Given the description of an element on the screen output the (x, y) to click on. 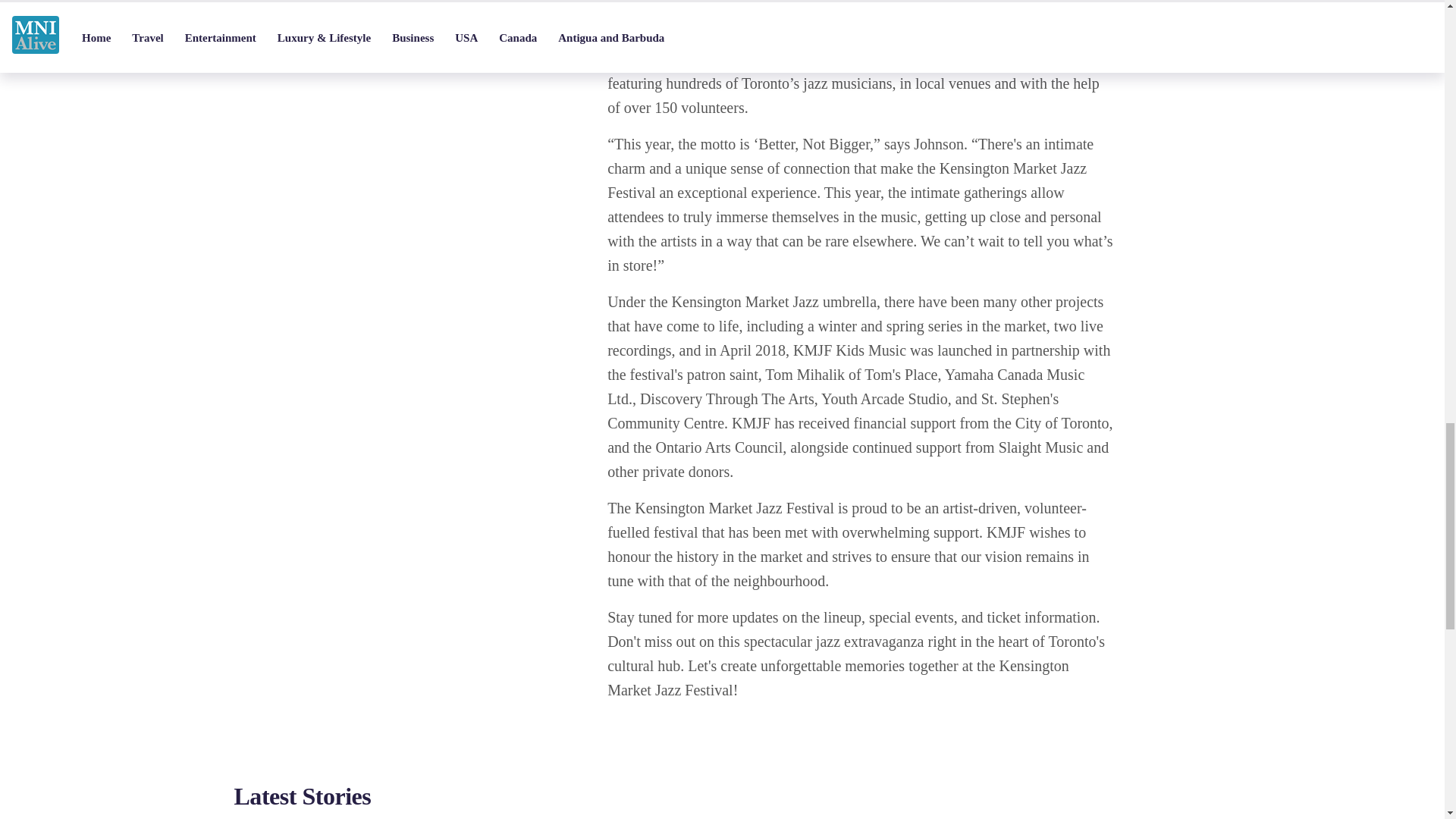
Share on Twitter (386, 27)
Share on WhatsApp (424, 27)
Share on Facebook (349, 27)
